Given the description of an element on the screen output the (x, y) to click on. 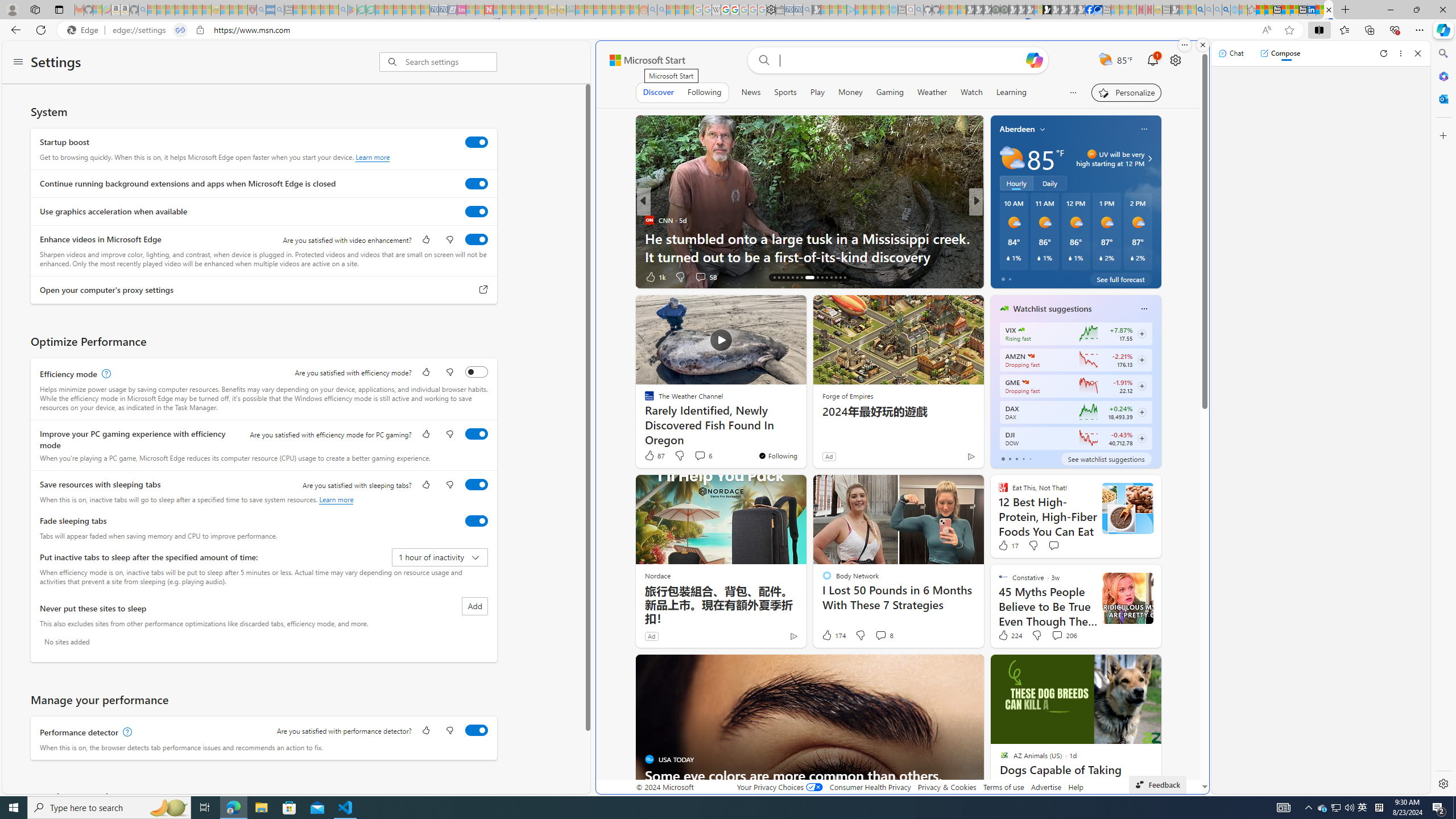
Open settings (1174, 60)
Search settings (451, 61)
Microsoft Start Gaming - Sleeping (815, 9)
Class: weather-current-precipitation-glyph (1131, 257)
Discover (658, 92)
Cheap Hotels - Save70.com - Sleeping (442, 9)
Watch (971, 92)
